Given the description of an element on the screen output the (x, y) to click on. 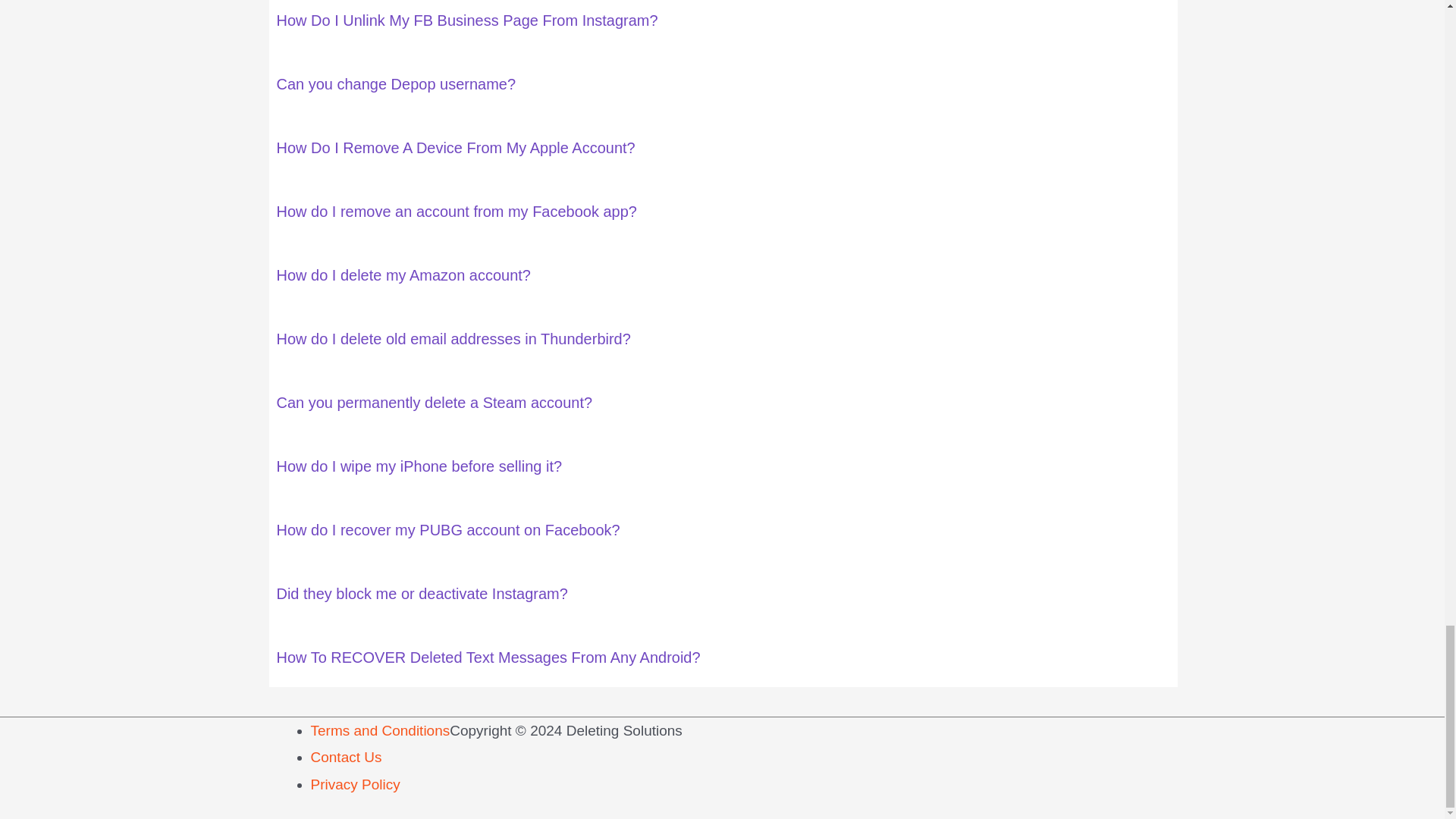
Terms and Conditions (380, 730)
How do I recover my PUBG account on Facebook? (448, 529)
How To RECOVER Deleted Text Messages From Any Android? (488, 657)
Did they block me or deactivate Instagram? (421, 593)
How do I wipe my iPhone before selling it? (419, 466)
Contact Us (346, 756)
How do I delete old email addresses in Thunderbird? (453, 338)
Can you change Depop username? (395, 84)
How Do I Remove A Device From My Apple Account? (455, 147)
Privacy Policy (355, 784)
How Do I Unlink My FB Business Page From Instagram? (467, 20)
Can you permanently delete a Steam account? (434, 402)
How do I delete my Amazon account? (402, 274)
How do I remove an account from my Facebook app? (456, 211)
